Given the description of an element on the screen output the (x, y) to click on. 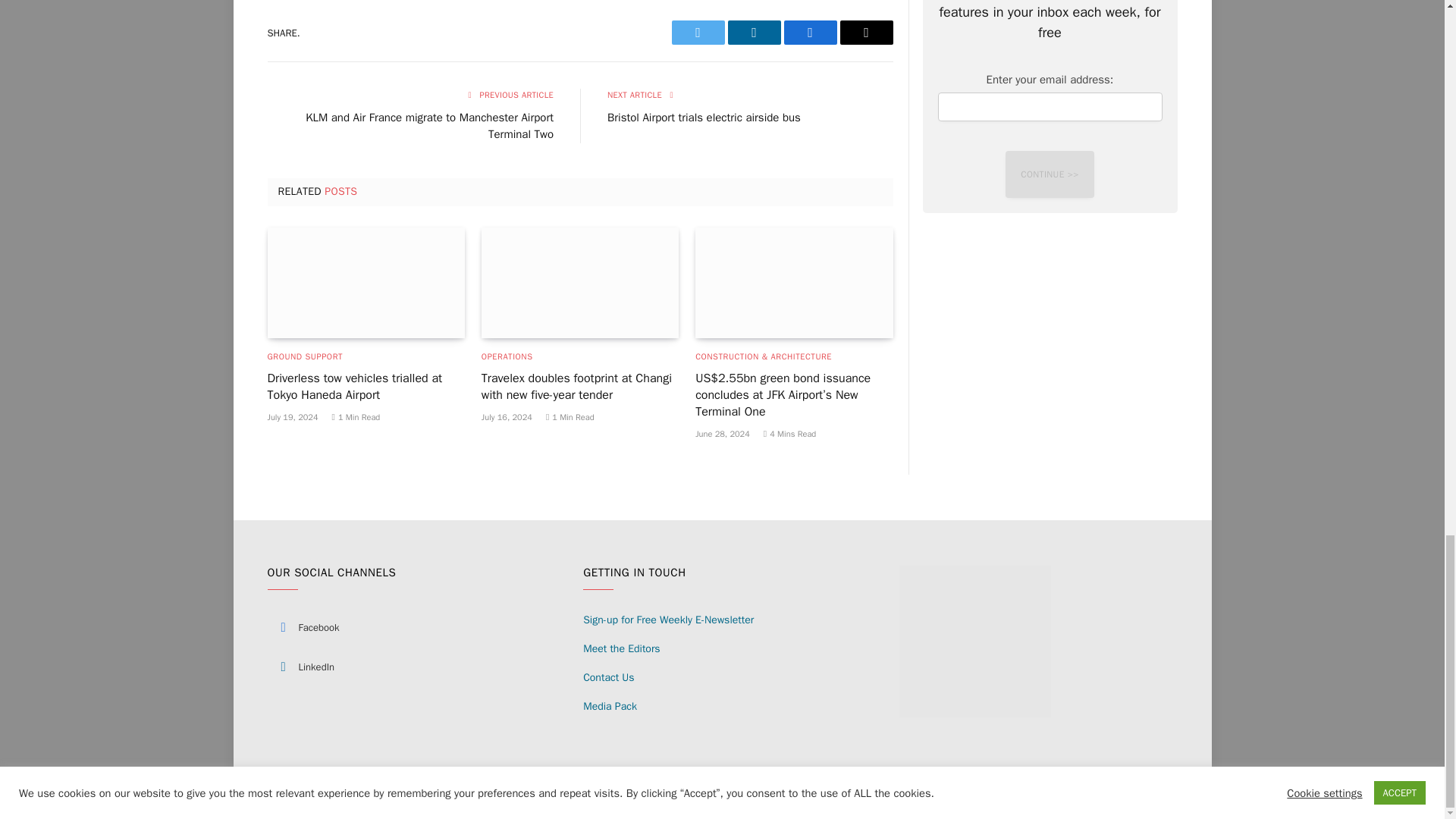
Share via Email (866, 32)
Share on Facebook (810, 32)
Share on LinkedIn (754, 32)
Driverless tow vehicles trialled at Tokyo Haneda Airport (365, 282)
